Given the description of an element on the screen output the (x, y) to click on. 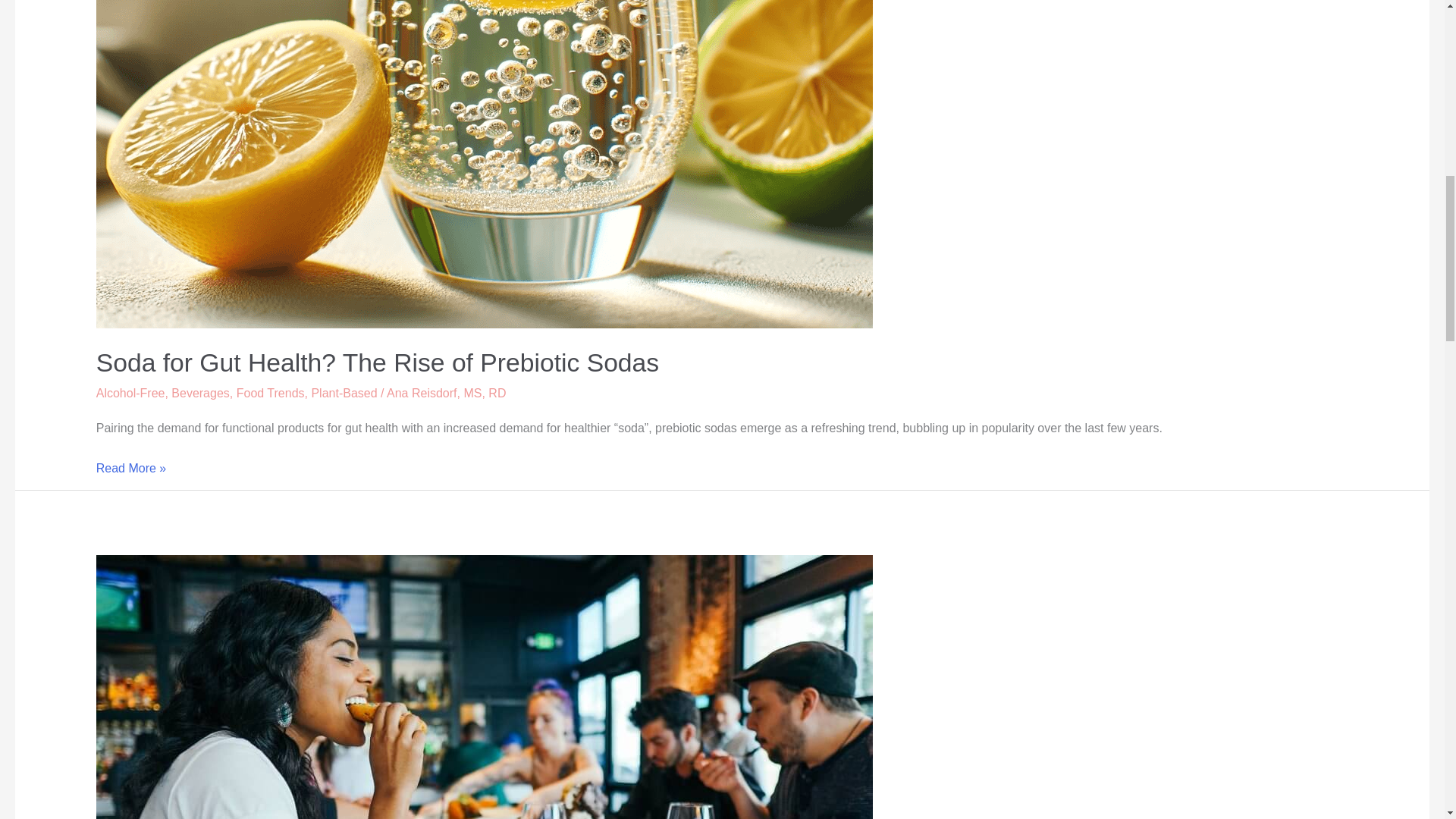
View all posts by Ana Reisdorf, MS, RD (446, 392)
Food Trends (269, 392)
Beverages (200, 392)
Plant-Based (344, 392)
Soda for Gut Health? The Rise of Prebiotic Sodas (377, 362)
Ana Reisdorf, MS, RD (446, 392)
Alcohol-Free (130, 392)
